Given the description of an element on the screen output the (x, y) to click on. 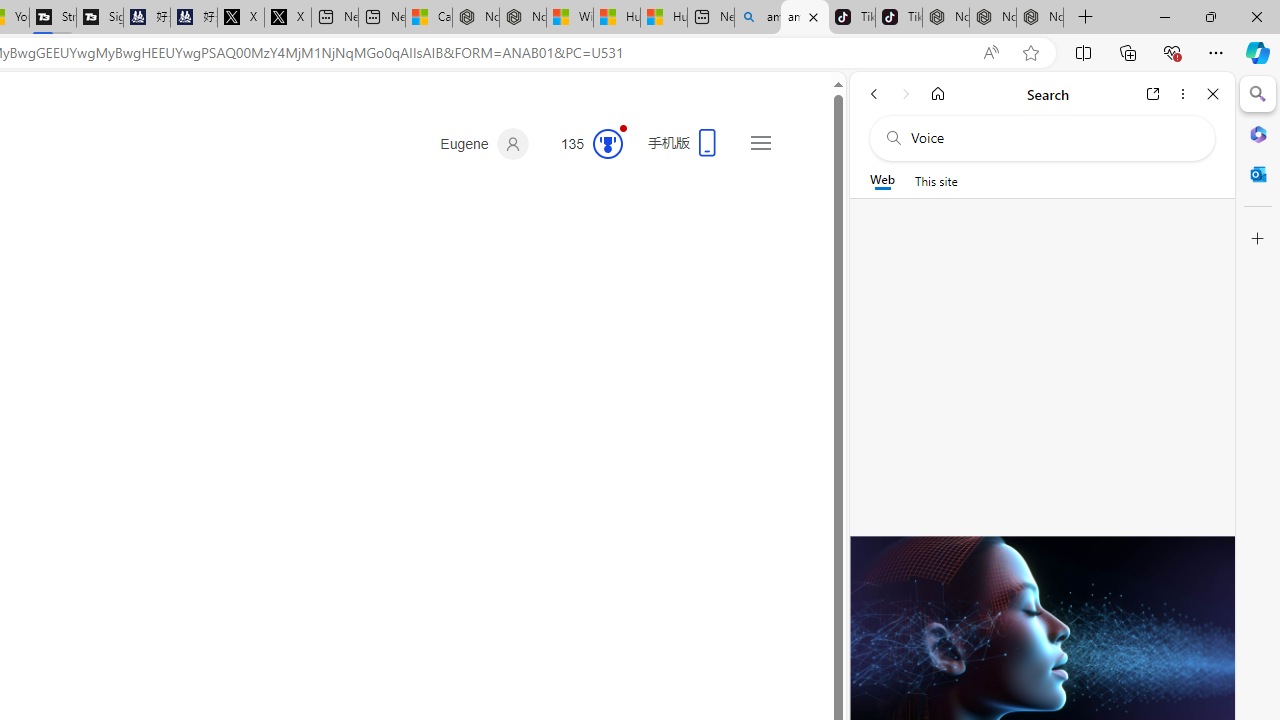
Search the web (1051, 137)
amazon - Search (805, 17)
Huge shark washes ashore at New York City beach | Watch (664, 17)
Nordace Siena Pro 15 Backpack (993, 17)
Eugene (484, 143)
More options (1182, 93)
Customize (1258, 239)
